Given the description of an element on the screen output the (x, y) to click on. 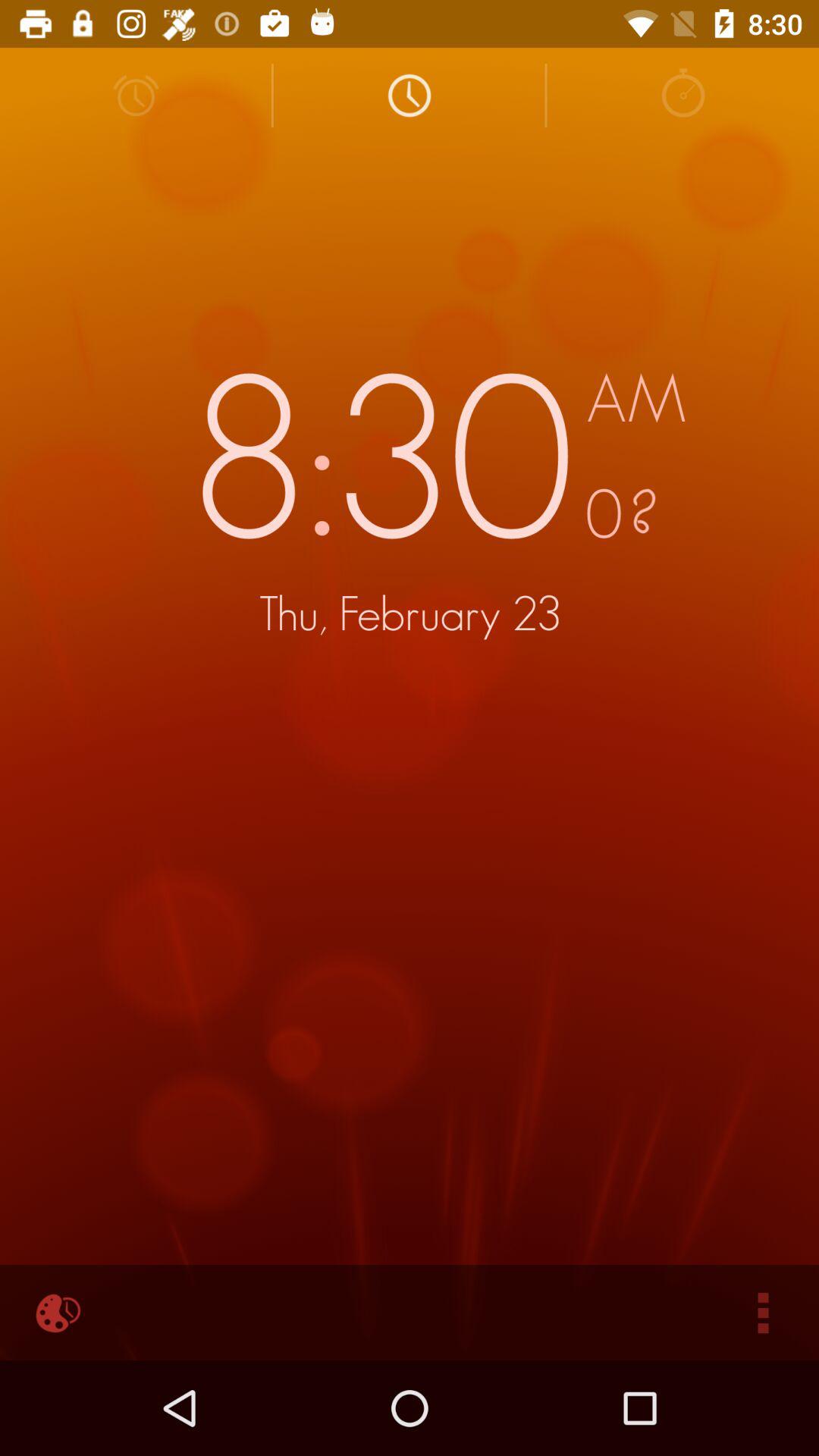
select the item at the bottom left corner (55, 1312)
